Given the description of an element on the screen output the (x, y) to click on. 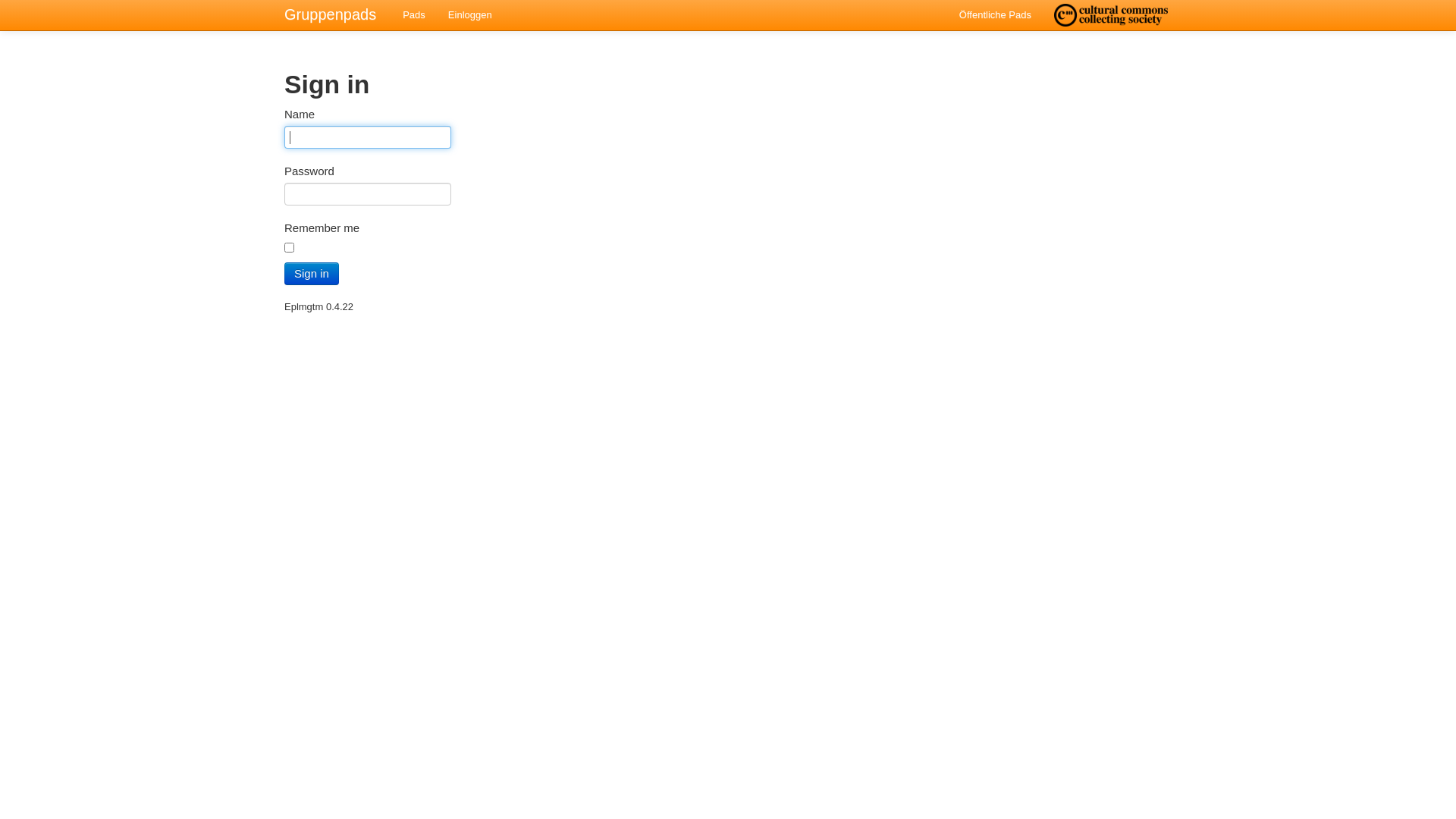
Sign in Element type: text (311, 273)
Pads Element type: text (413, 15)
Einloggen Element type: text (469, 15)
Gruppenpads Element type: text (330, 14)
